Given the description of an element on the screen output the (x, y) to click on. 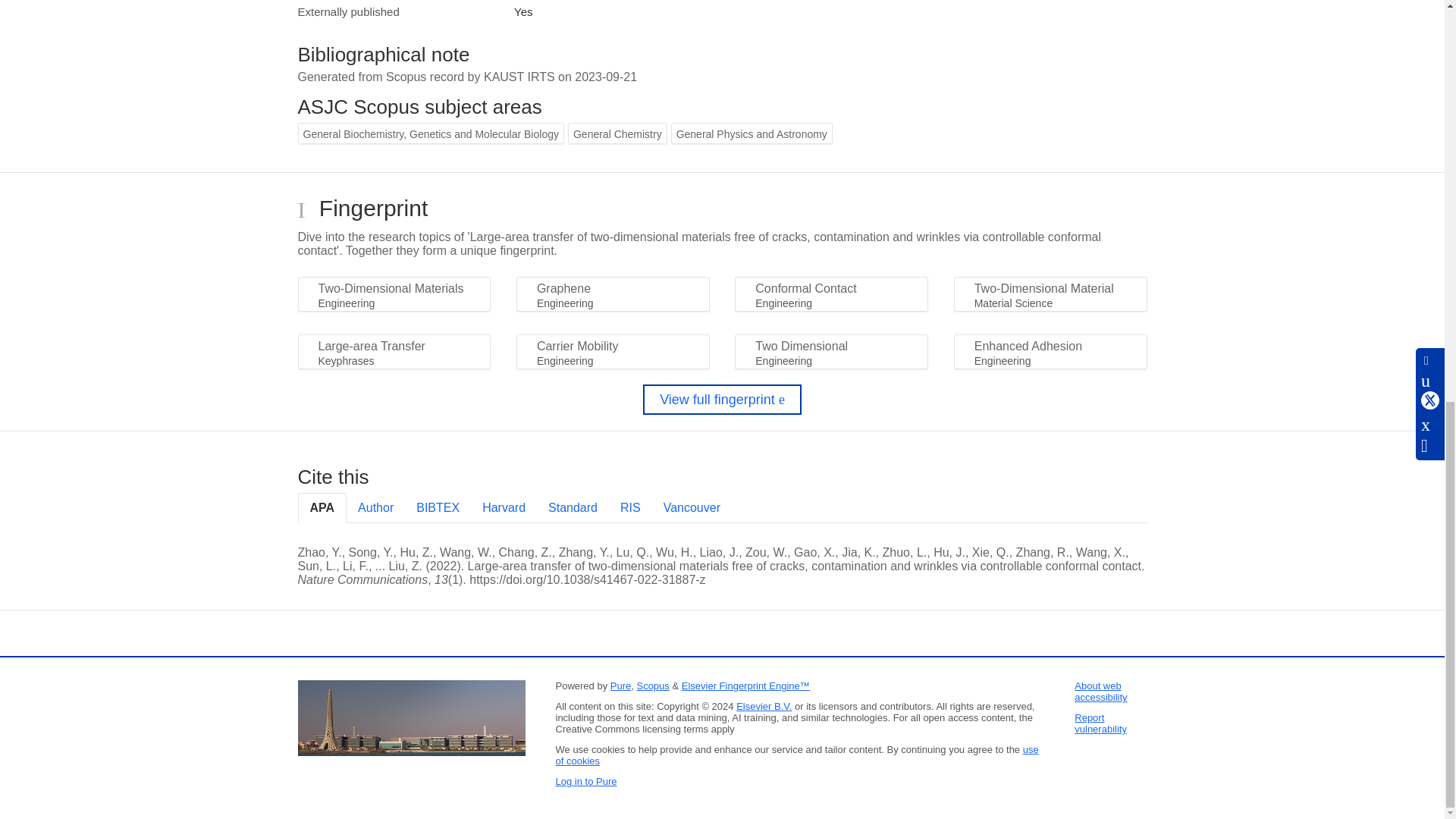
View full fingerprint (722, 399)
